Given the description of an element on the screen output the (x, y) to click on. 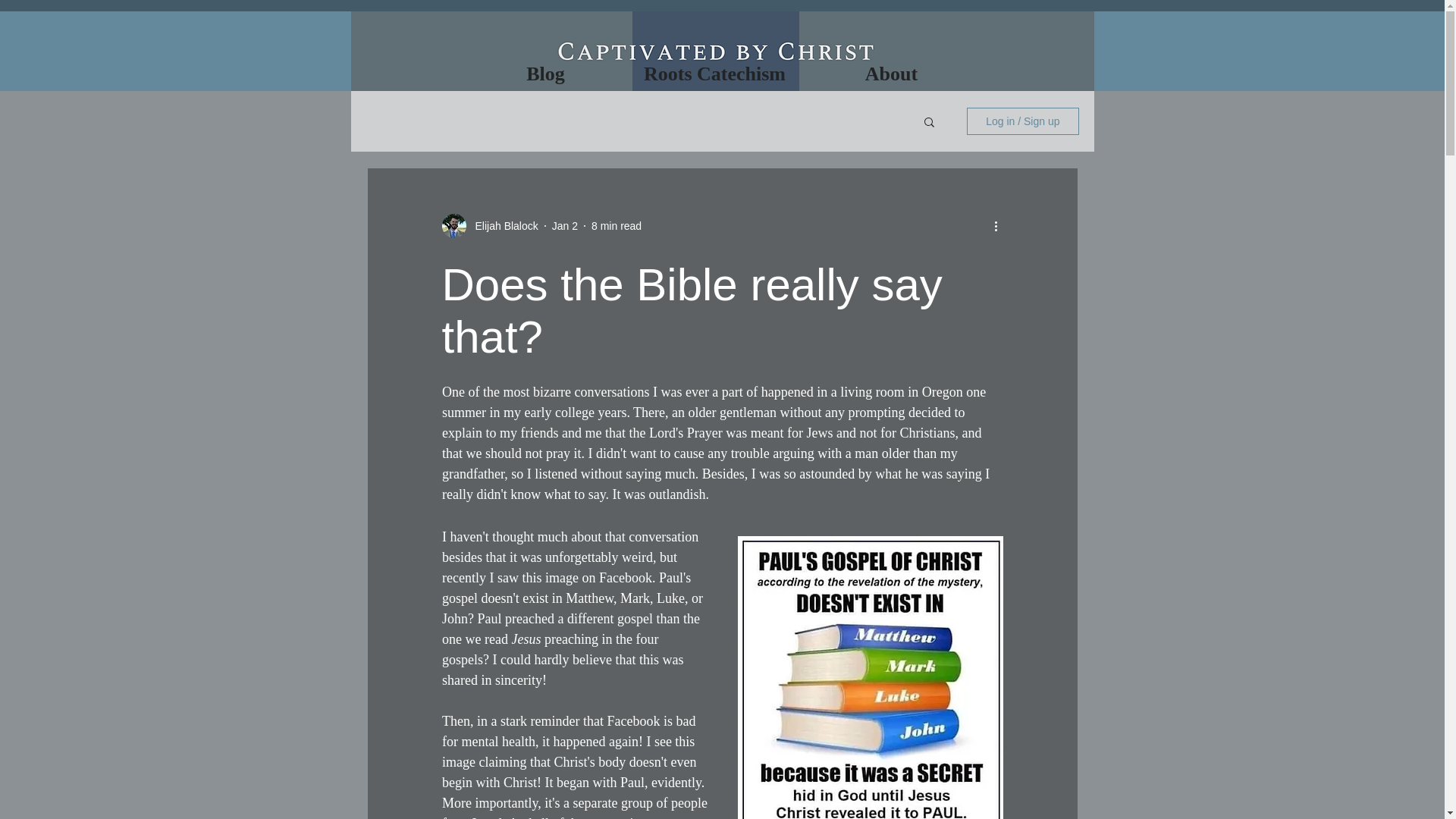
Elijah Blalock (501, 226)
Blog (544, 73)
Roots Catechism (714, 73)
About (891, 73)
Jan 2 (564, 225)
8 min read (616, 225)
